Given the description of an element on the screen output the (x, y) to click on. 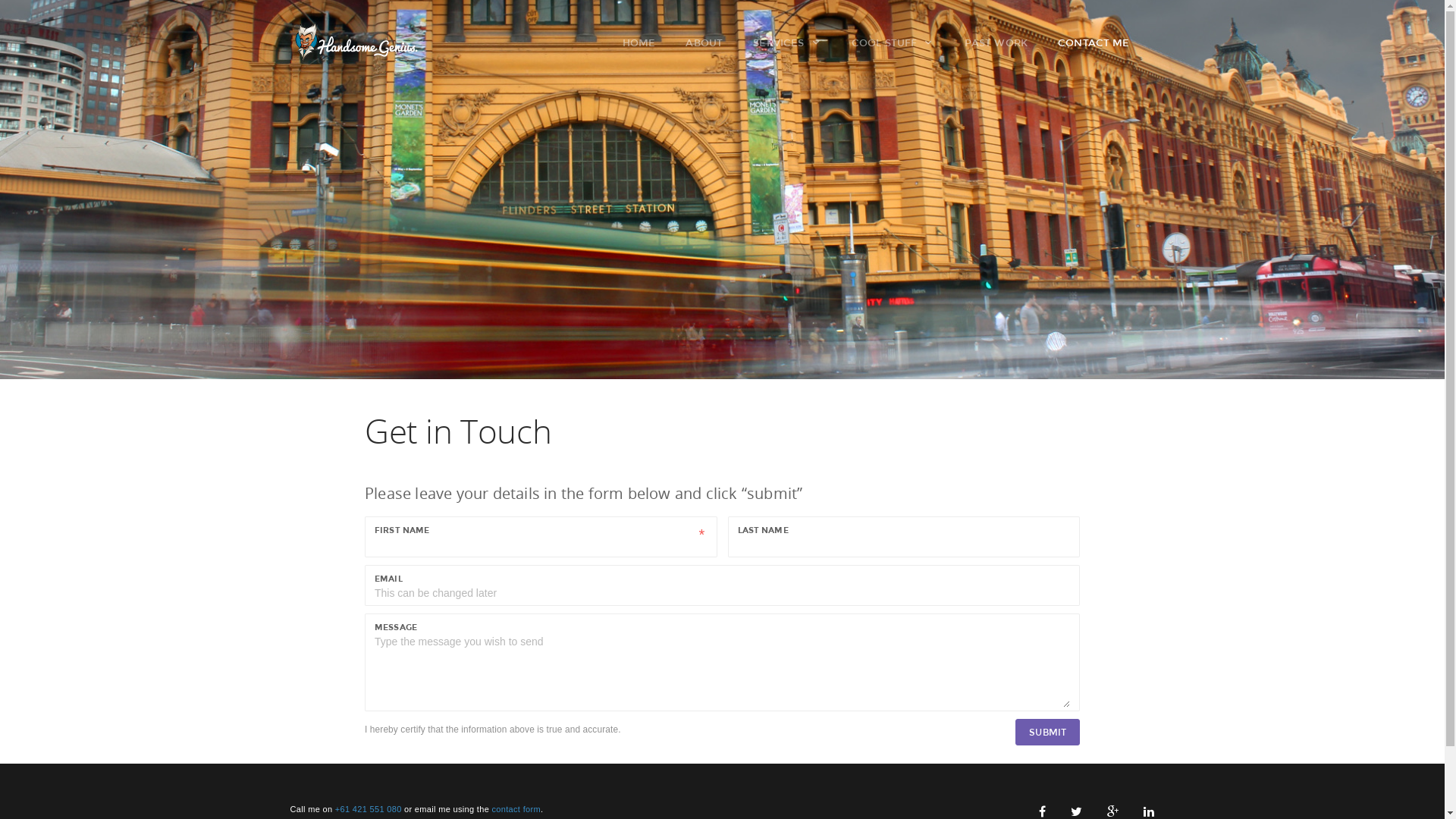
COOL STUFF Element type: text (900, 42)
PAST WORK Element type: text (1003, 42)
ABOUT Element type: text (711, 42)
CONTACT ME Element type: text (1101, 42)
+61 421 551 080 Element type: text (368, 808)
SERVICES Element type: text (794, 42)
contact form Element type: text (515, 808)
HOME Element type: text (646, 42)
SUBMIT Element type: text (1047, 731)
